Given the description of an element on the screen output the (x, y) to click on. 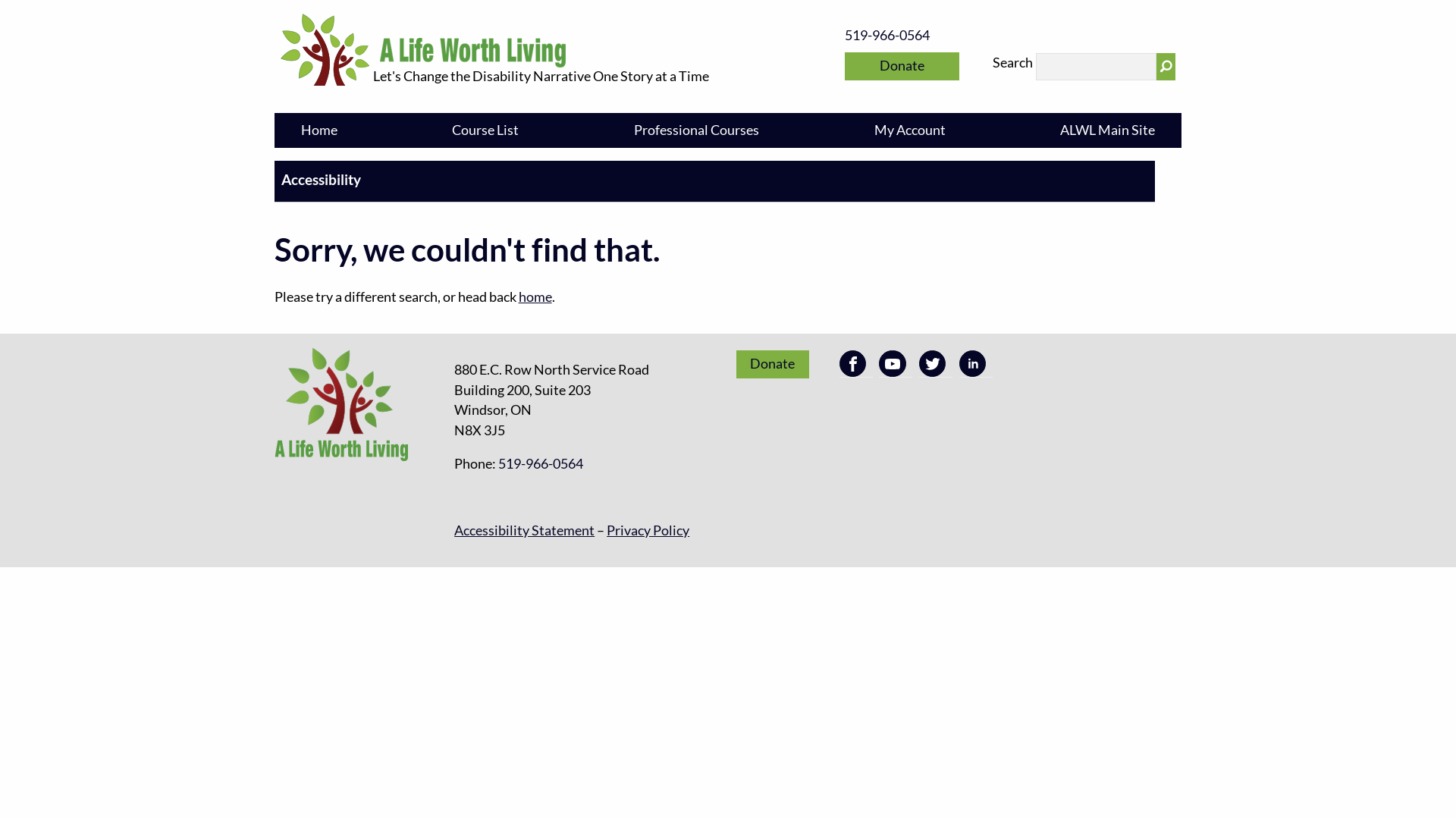
home Element type: text (535, 296)
My Account Element type: text (909, 130)
Privacy Policy Element type: text (647, 530)
Professional Courses Element type: text (696, 130)
519-966-0564 Element type: text (540, 463)
Course List Element type: text (485, 130)
Donate Element type: text (901, 66)
ALWL Main Site Element type: text (1107, 130)
Home Element type: text (319, 130)
Accessibility Statement Element type: text (524, 530)
Donate Element type: text (772, 364)
519-966-0564 Element type: text (886, 35)
Accessibility Element type: text (714, 178)
